Given the description of an element on the screen output the (x, y) to click on. 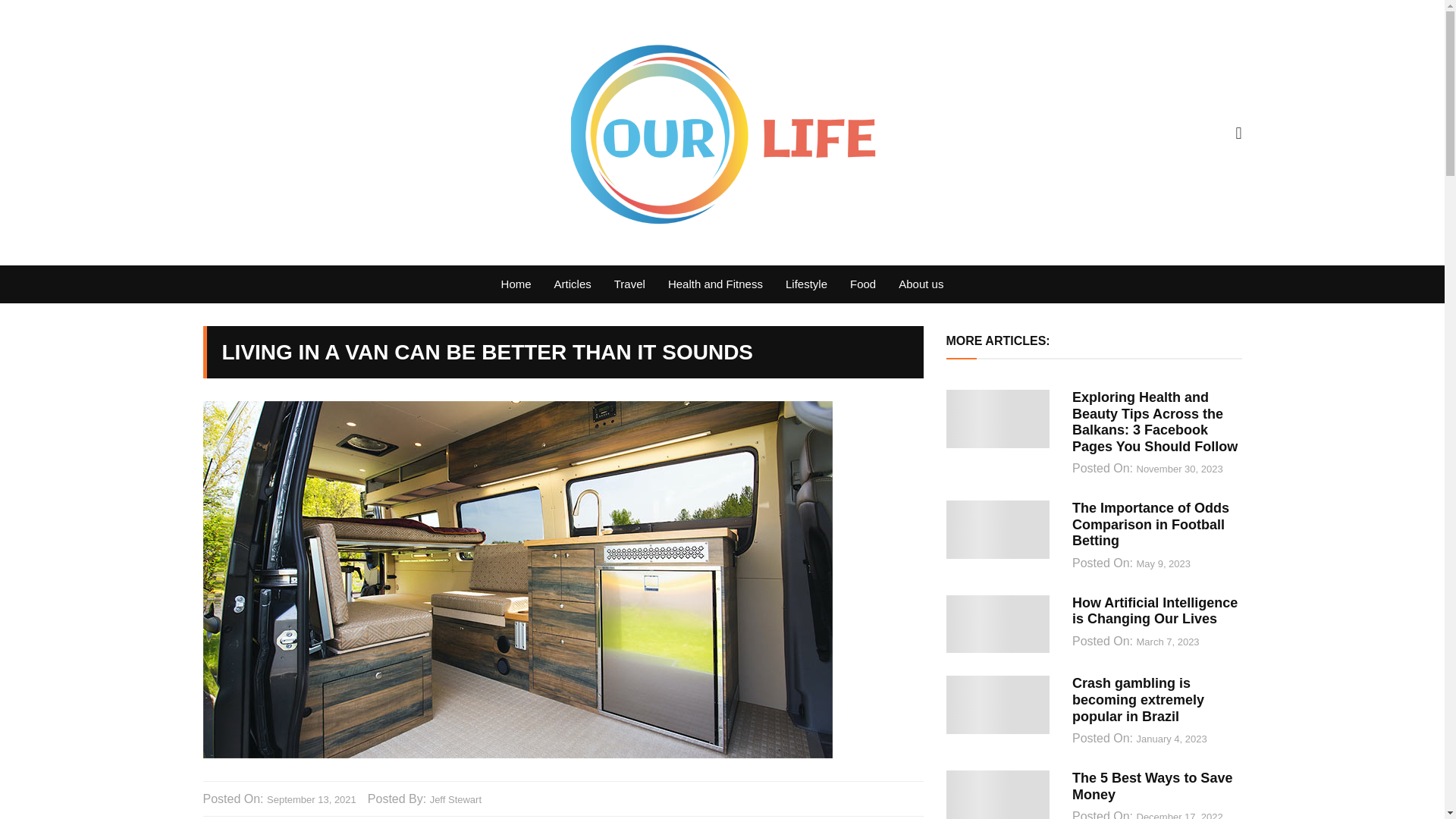
Food (862, 284)
Articles (572, 284)
Travel (629, 284)
Health and Fitness (715, 284)
About us (920, 284)
Lifestyle (806, 284)
September 13, 2021 (311, 799)
Home (516, 284)
Jeff Stewart (455, 799)
